Given the description of an element on the screen output the (x, y) to click on. 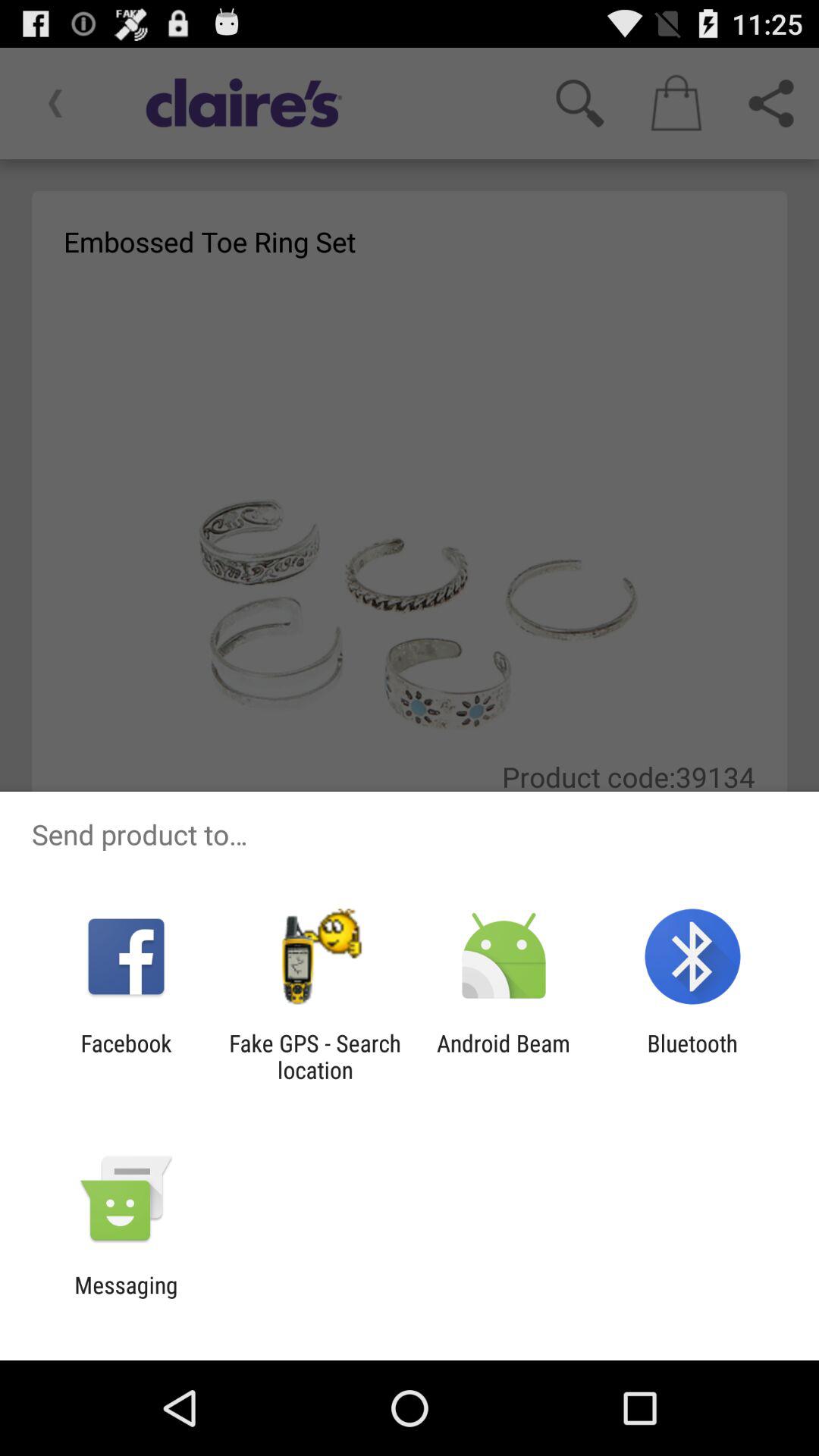
launch item next to fake gps search app (503, 1056)
